Given the description of an element on the screen output the (x, y) to click on. 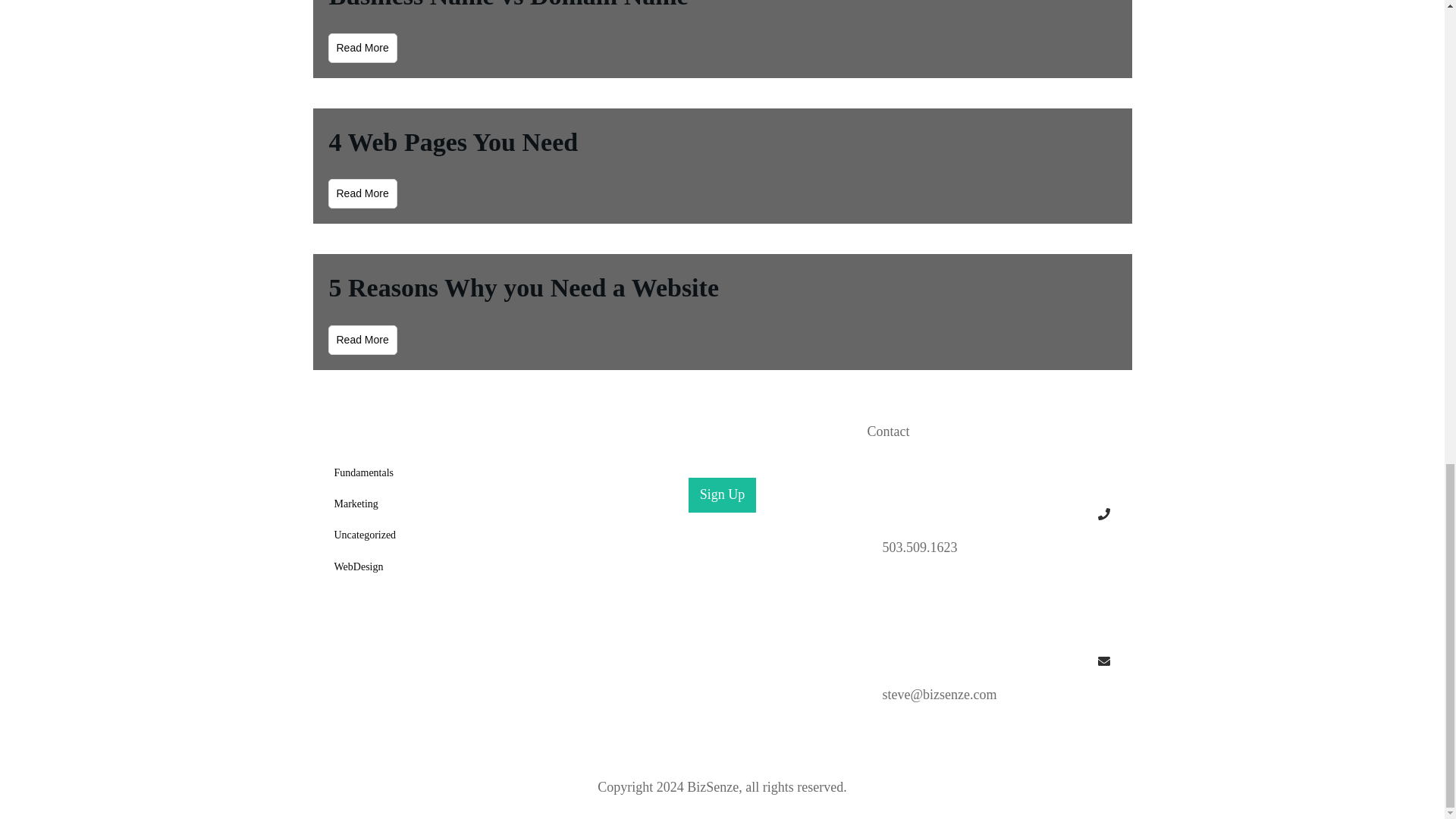
Sign Up (722, 494)
4 Web Pages You Need (453, 141)
Read More (361, 193)
5 Reasons Why you Need a Website (524, 287)
5 Reasons Why you Need a Website (524, 287)
Business Name vs Domain Name (508, 4)
Fundamentals (363, 472)
4 Web Pages You Need (453, 141)
WebDesign (357, 566)
Marketing (355, 503)
